Given the description of an element on the screen output the (x, y) to click on. 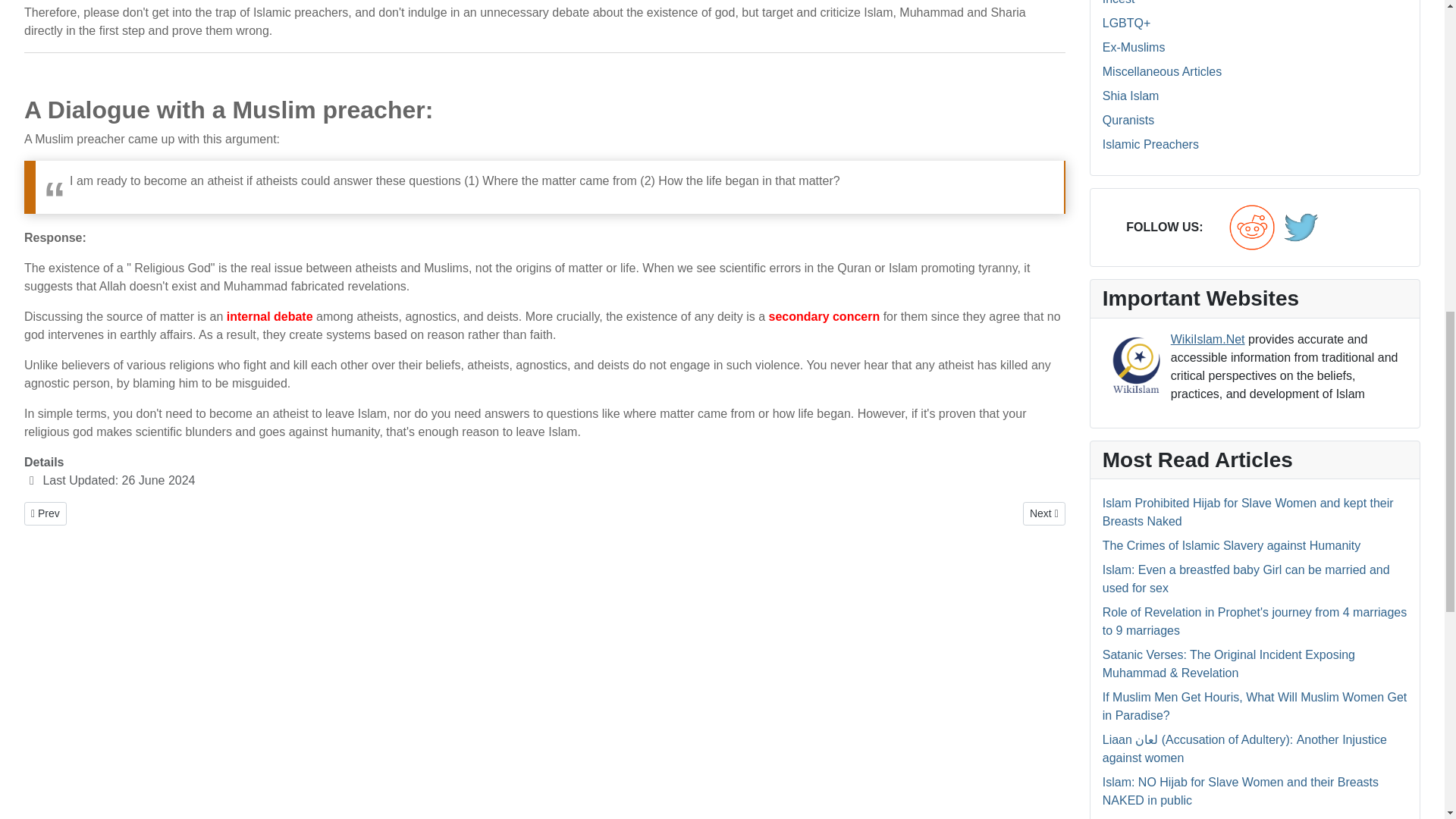
Incest (1118, 2)
Ex-Muslims (1134, 47)
WikiIslam.Net (1136, 364)
Miscellaneous Articles (1161, 71)
